Given the description of an element on the screen output the (x, y) to click on. 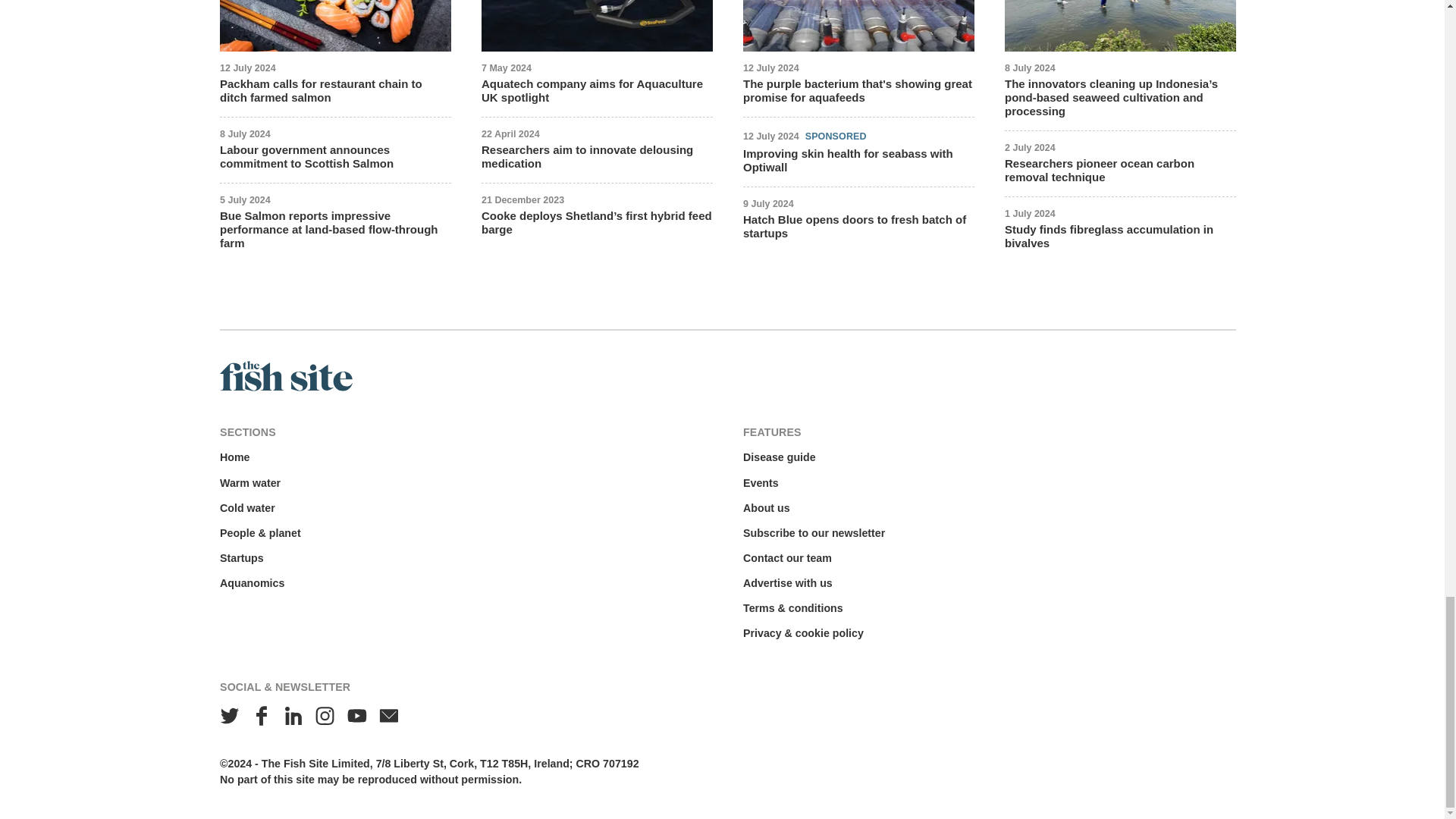
Advertise with us (787, 583)
LinkedIn (293, 715)
Twitter (229, 715)
Facebook (261, 715)
Return to The Fish Site homepage (285, 387)
